Given the description of an element on the screen output the (x, y) to click on. 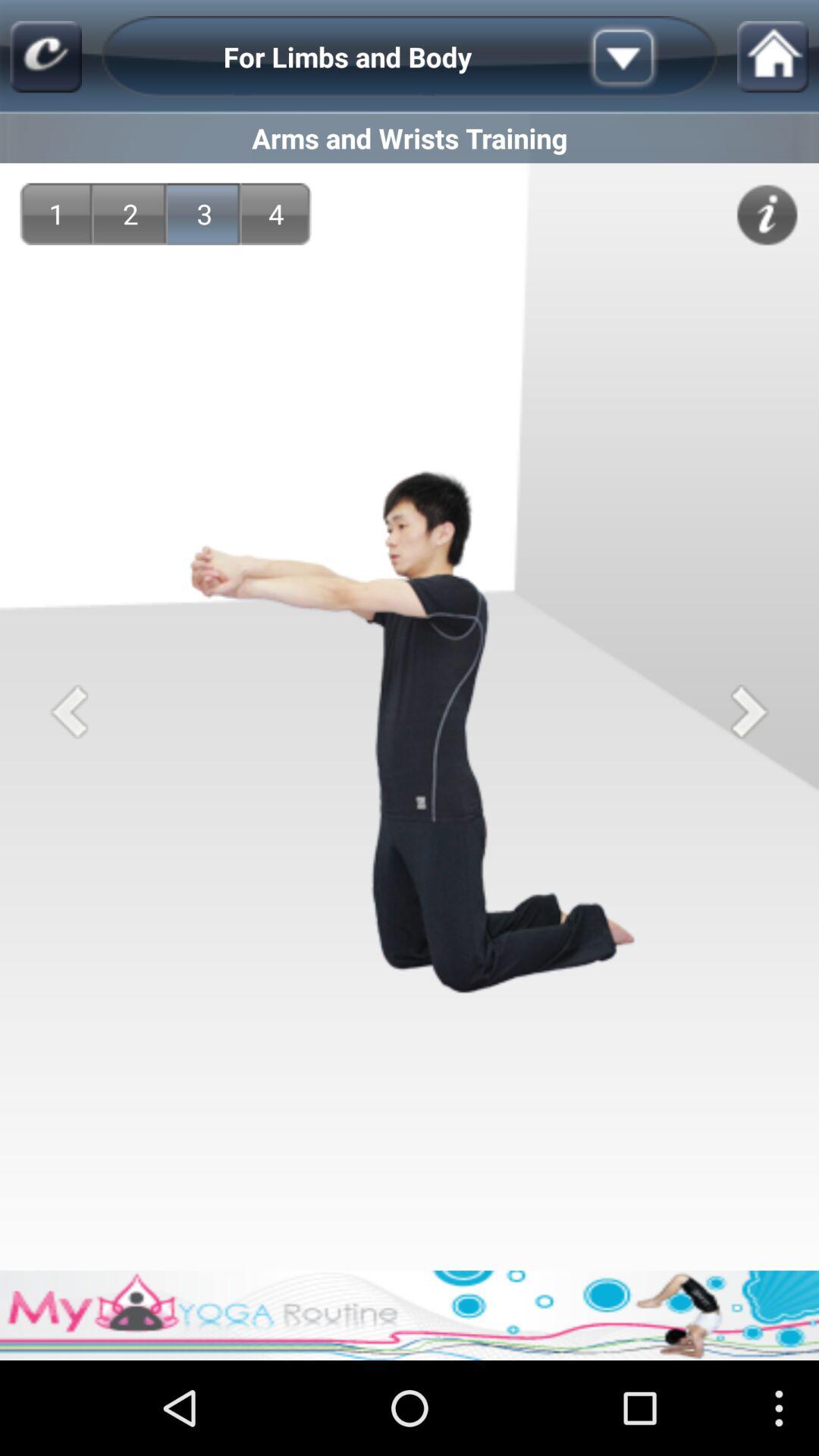
open main menu (45, 56)
